Given the description of an element on the screen output the (x, y) to click on. 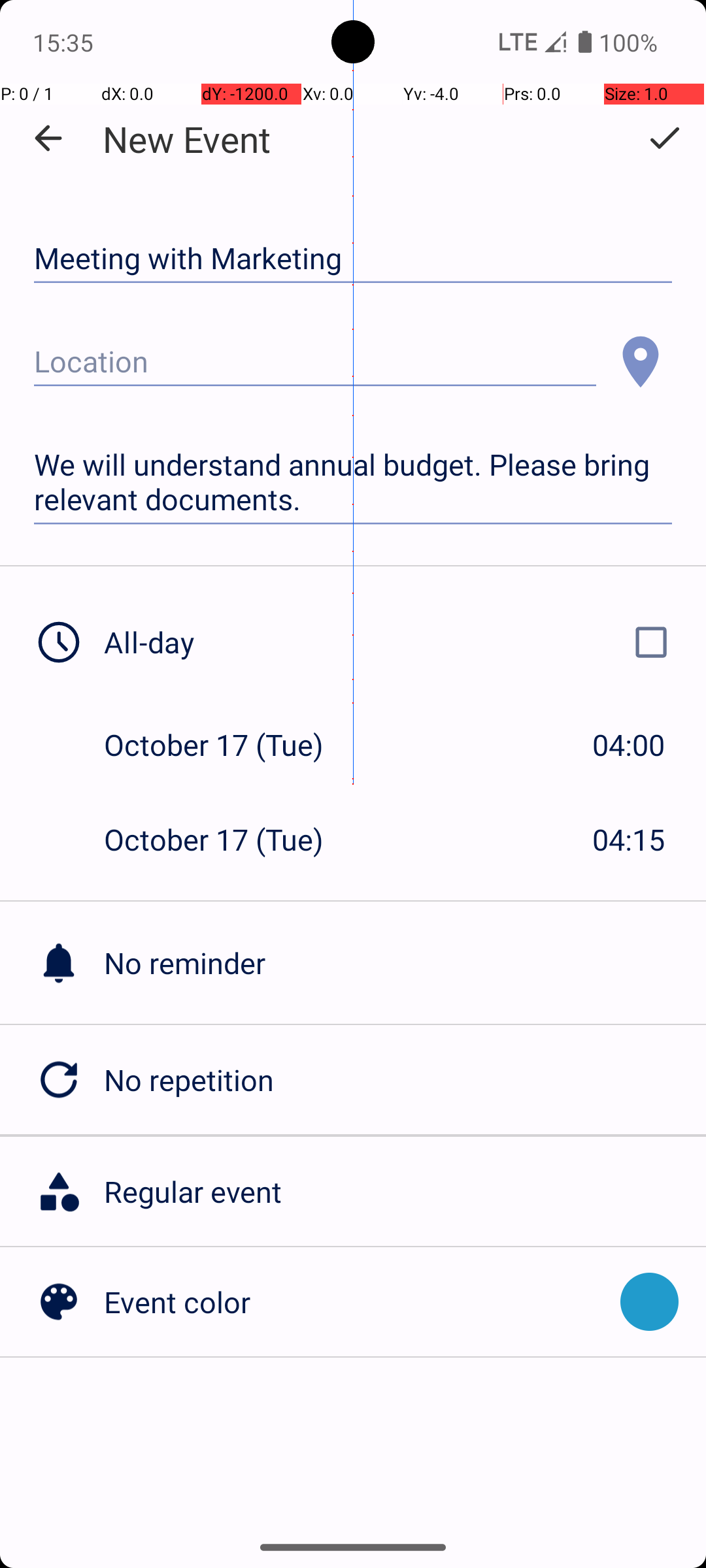
We will understand annual budget. Please bring relevant documents. Element type: android.widget.EditText (352, 482)
October 17 (Tue) Element type: android.widget.TextView (227, 744)
04:00 Element type: android.widget.TextView (628, 744)
04:15 Element type: android.widget.TextView (628, 838)
